Given the description of an element on the screen output the (x, y) to click on. 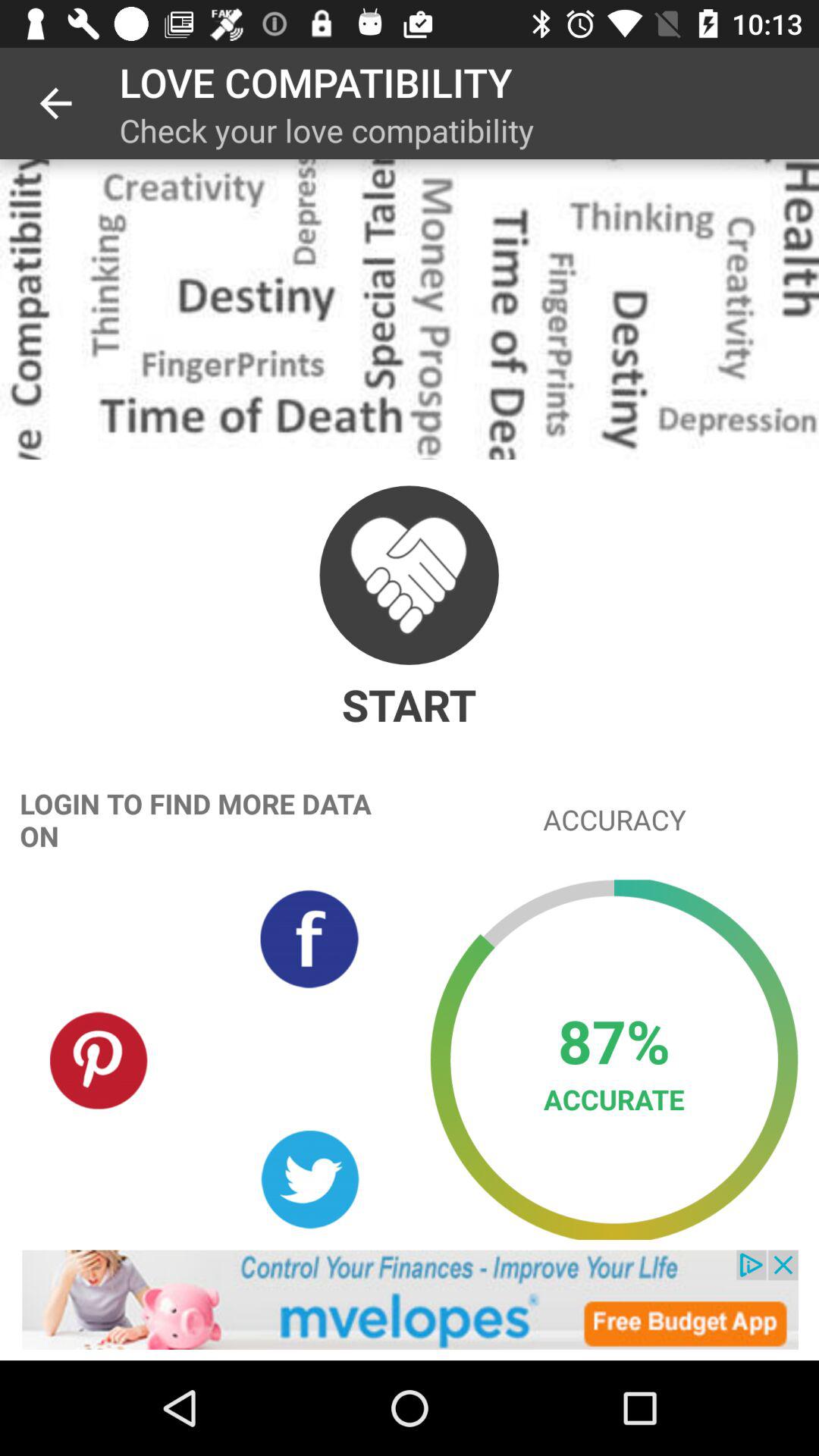
start button (408, 574)
